Given the description of an element on the screen output the (x, y) to click on. 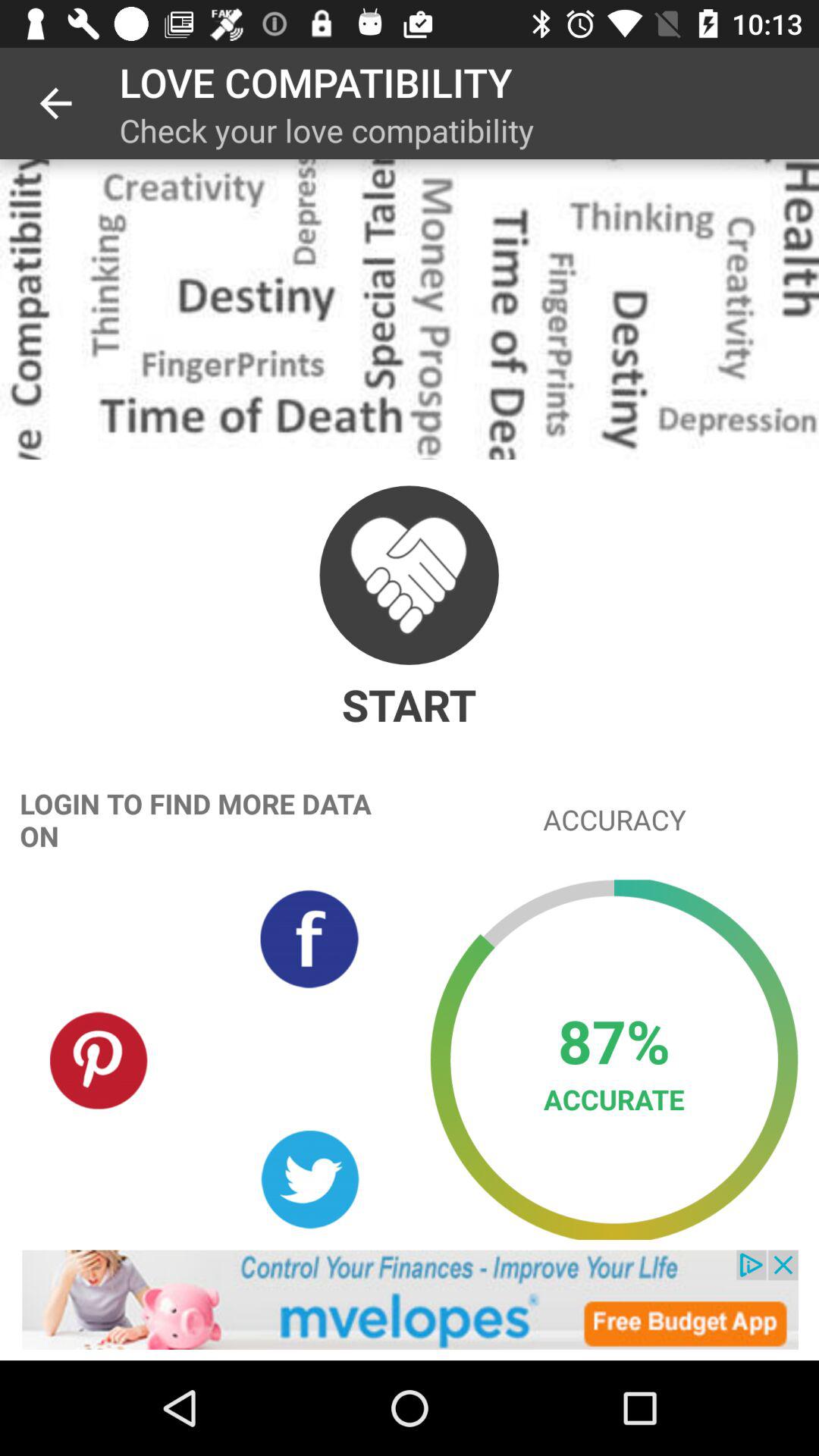
start button (408, 574)
